Given the description of an element on the screen output the (x, y) to click on. 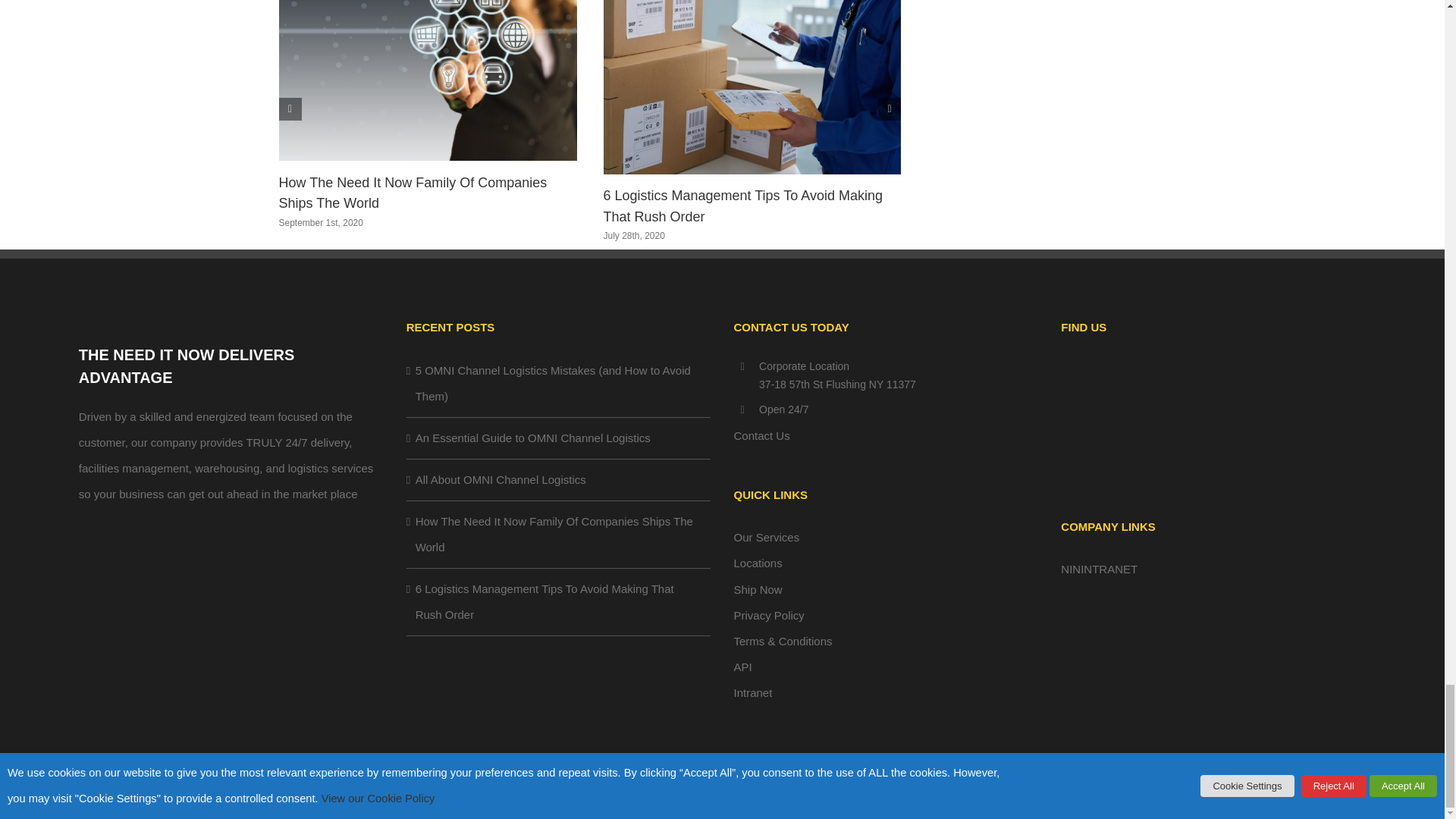
6 Logistics Management Tips To Avoid Making That Rush Order (743, 205)
How The Need It Now Family Of Companies Ships The World (413, 192)
